Given the description of an element on the screen output the (x, y) to click on. 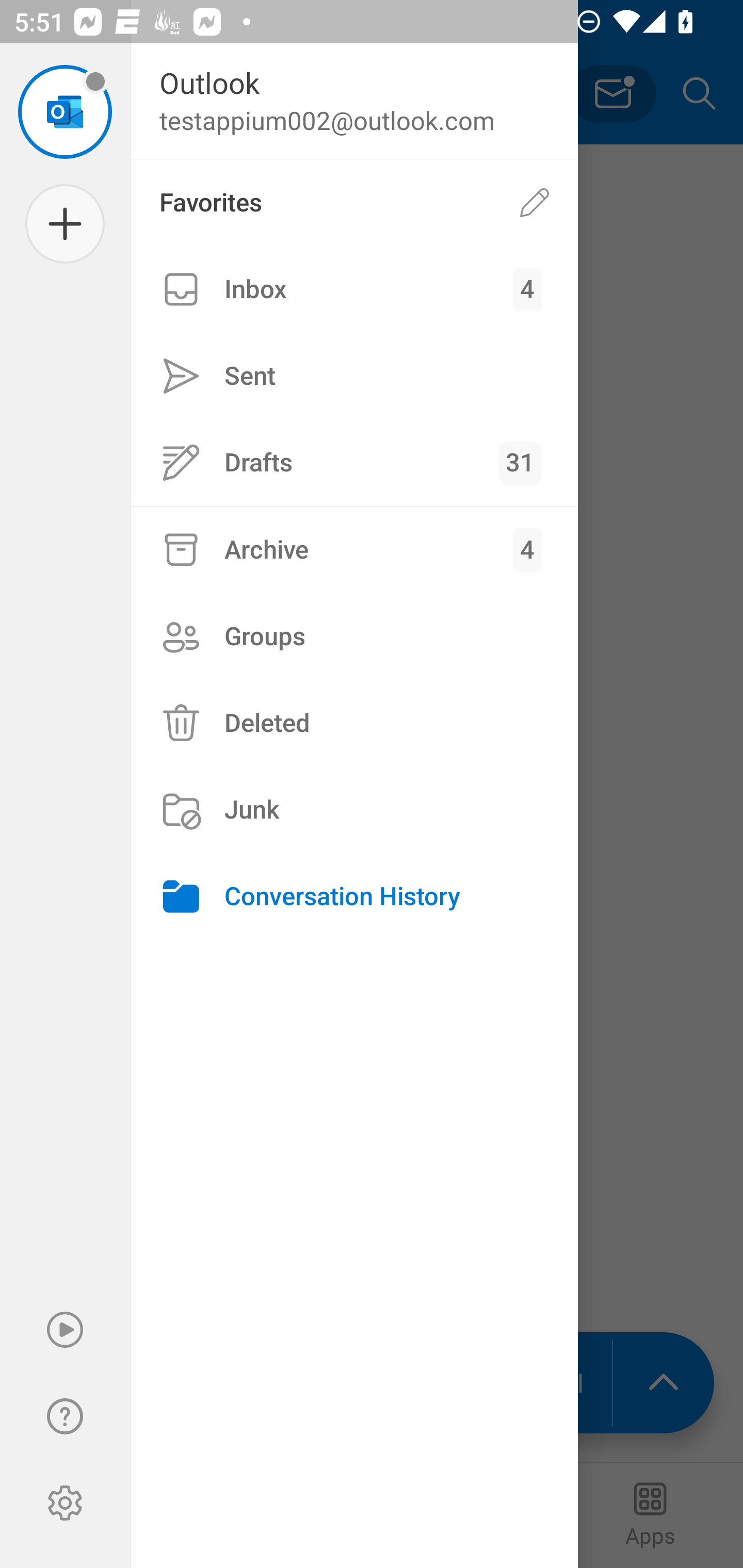
testappium002@outlook.com (64, 111)
Edit favorites (534, 202)
Add account (64, 224)
Inbox Inbox, 4 unread emails (354, 289)
Sent (354, 375)
Drafts Drafts, 31 unread emails (354, 462)
Archive Archive, 2 of 6, level 1, 4 unread emails (354, 549)
Groups Groups, 3 of 6, level 1 (354, 636)
Deleted Deleted, 4 of 6, level 1 (354, 723)
Junk Junk, 5 of 6, level 1 (354, 809)
Play My Emails (64, 1329)
Help (64, 1416)
Settings (64, 1502)
